Given the description of an element on the screen output the (x, y) to click on. 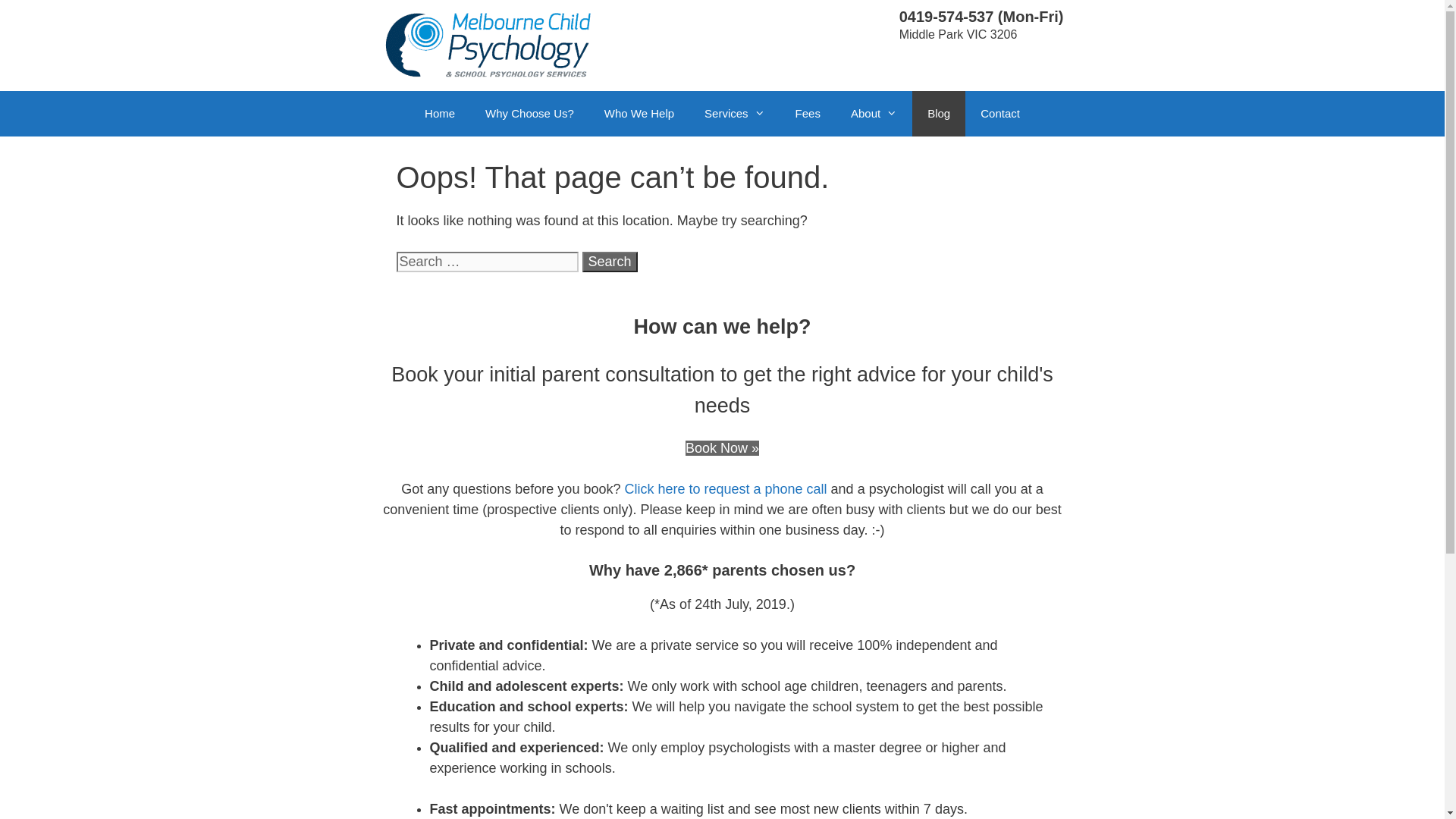
Blog Element type: text (938, 113)
Home Element type: text (439, 113)
Fees Element type: text (807, 113)
Search for: Element type: hover (486, 261)
0419-574-537 Element type: text (946, 16)
Who We Help Element type: text (639, 113)
Search Element type: text (609, 261)
Why Choose Us? Element type: text (529, 113)
About Element type: text (873, 113)
Services Element type: text (734, 113)
Click here to request a phone call Element type: text (725, 488)
Contact Element type: text (1000, 113)
